Given the description of an element on the screen output the (x, y) to click on. 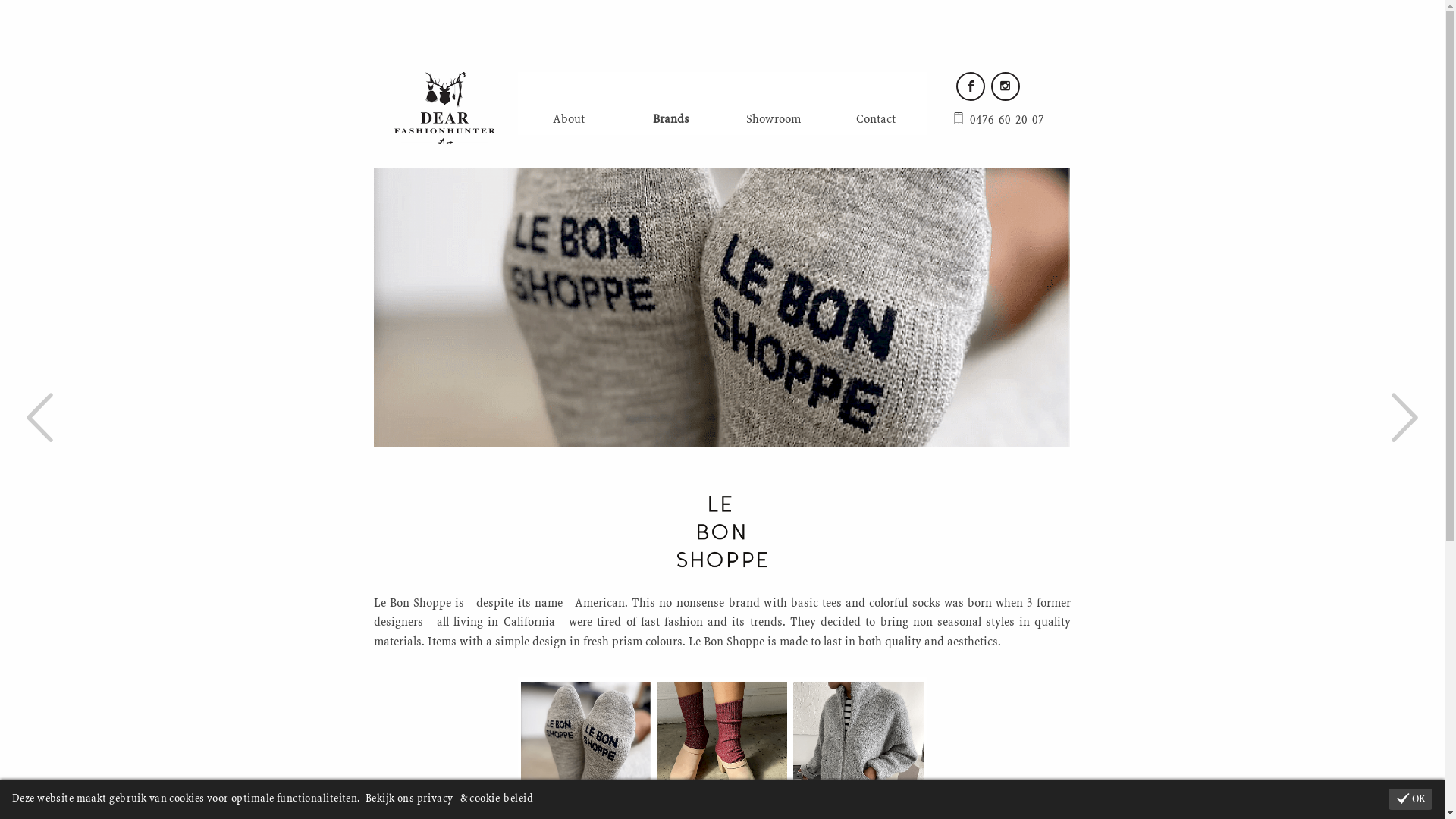
home Dear Fashion Hunter Element type: hover (444, 107)
Wolvis Element type: hover (1404, 423)
About Element type: text (568, 119)
Showroom Element type: text (772, 119)
Bekijk ons privacy- & cookie-beleid Element type: text (449, 798)
Brands Element type: text (671, 119)
Contact Element type: text (876, 119)
 OK Element type: text (1410, 798)
Mohinders Element type: hover (39, 423)
Socks and Tees from California afbeelding 3 Element type: hover (858, 746)
Volg Dear Fashion Hunter op Instagram Element type: hover (1004, 86)
Volg Dear Fashion Hunter op Facebook Element type: hover (969, 86)
Socks and Tees from California afbeelding 2 Element type: hover (721, 746)
Socks and Tees from California afbeelding 1 Element type: hover (585, 746)
